Given the description of an element on the screen output the (x, y) to click on. 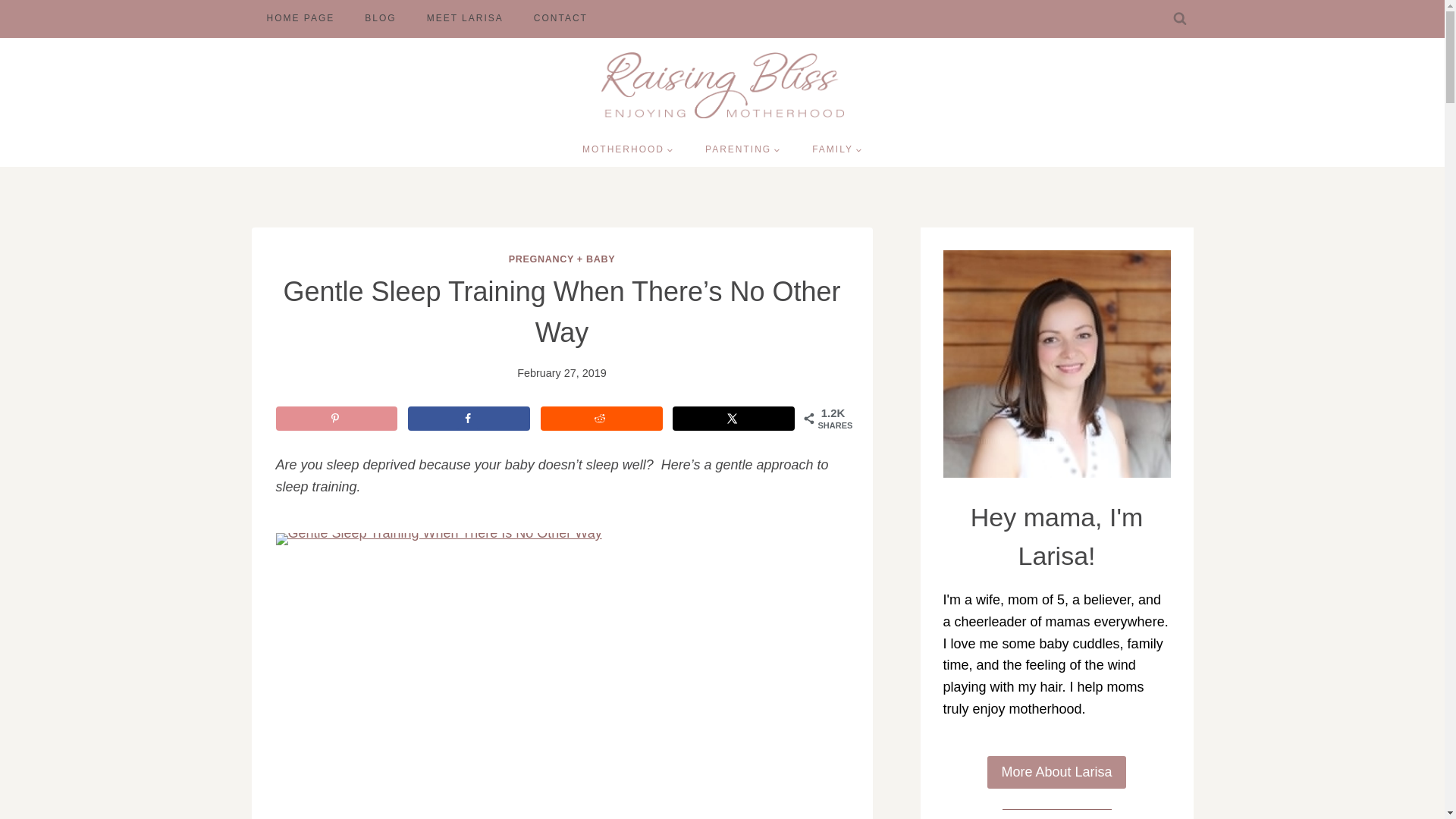
BLOG (379, 18)
FAMILY (836, 149)
MEET LARISA (465, 18)
CONTACT (560, 18)
Save to Pinterest (336, 418)
Share on Reddit (601, 418)
Share on X (733, 418)
PARENTING (742, 149)
Share on Facebook (468, 418)
MOTHERHOOD (627, 149)
